Given the description of an element on the screen output the (x, y) to click on. 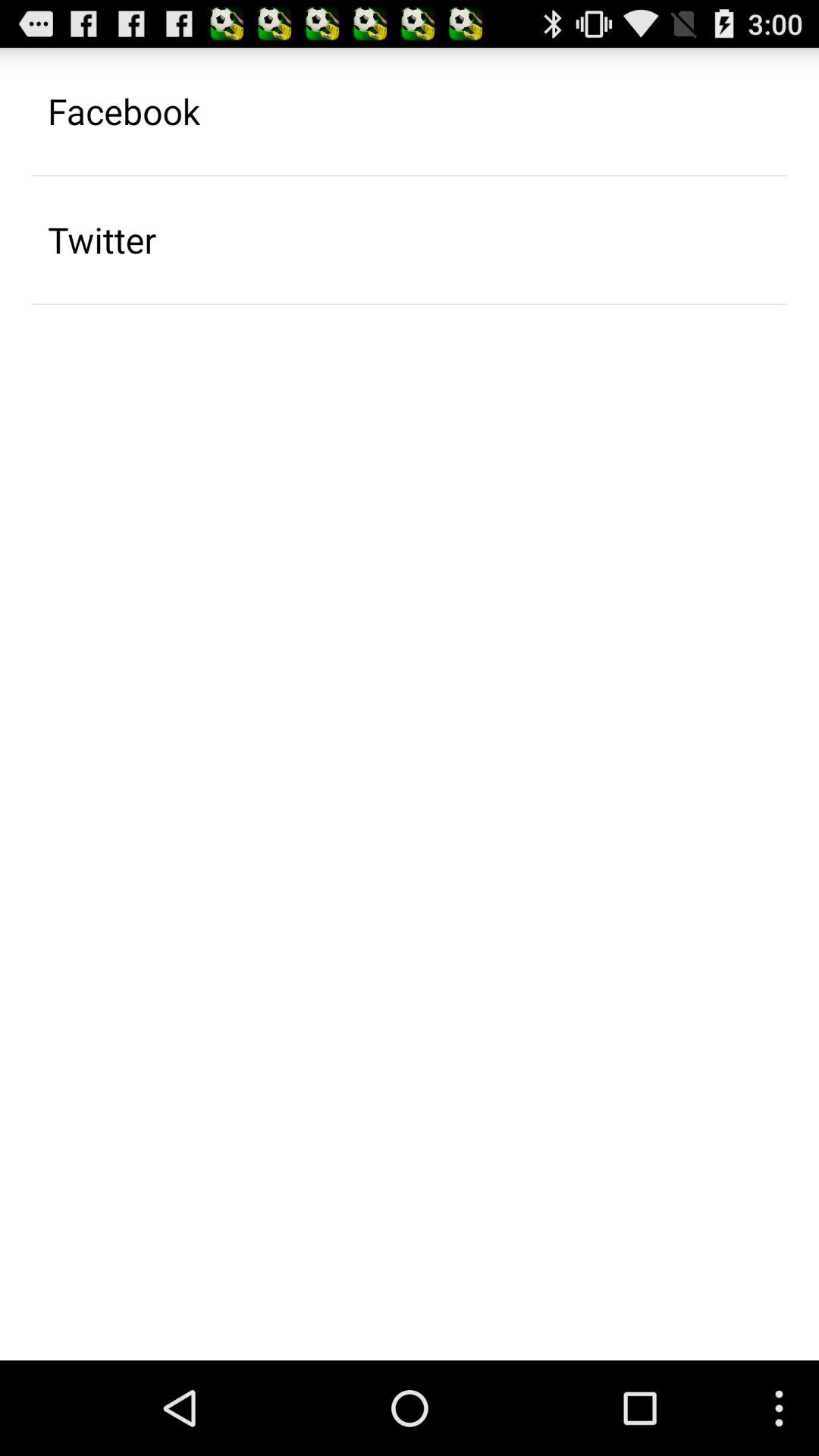
select the twitter icon (101, 239)
